Given the description of an element on the screen output the (x, y) to click on. 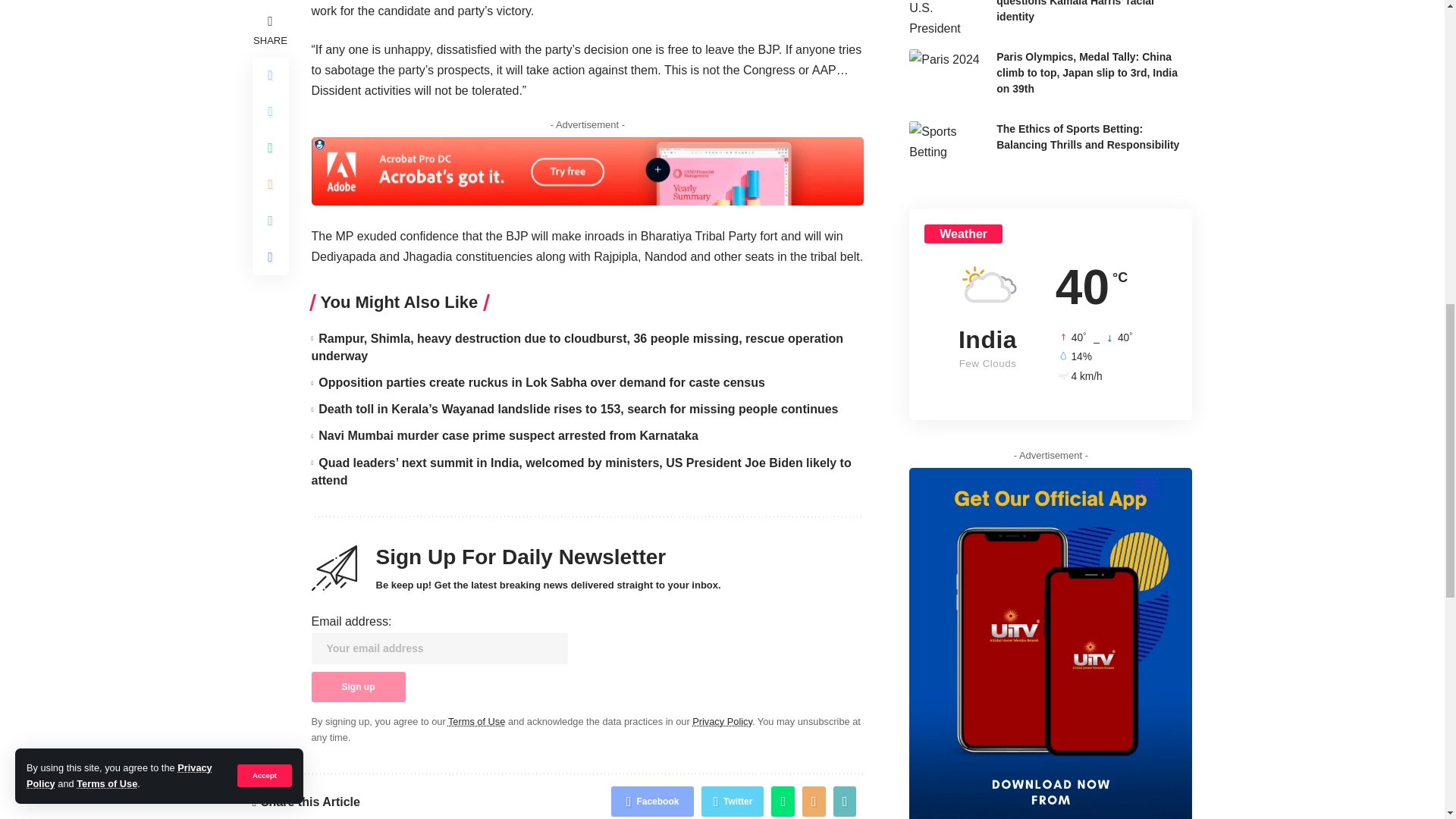
Sign up (357, 686)
